Given the description of an element on the screen output the (x, y) to click on. 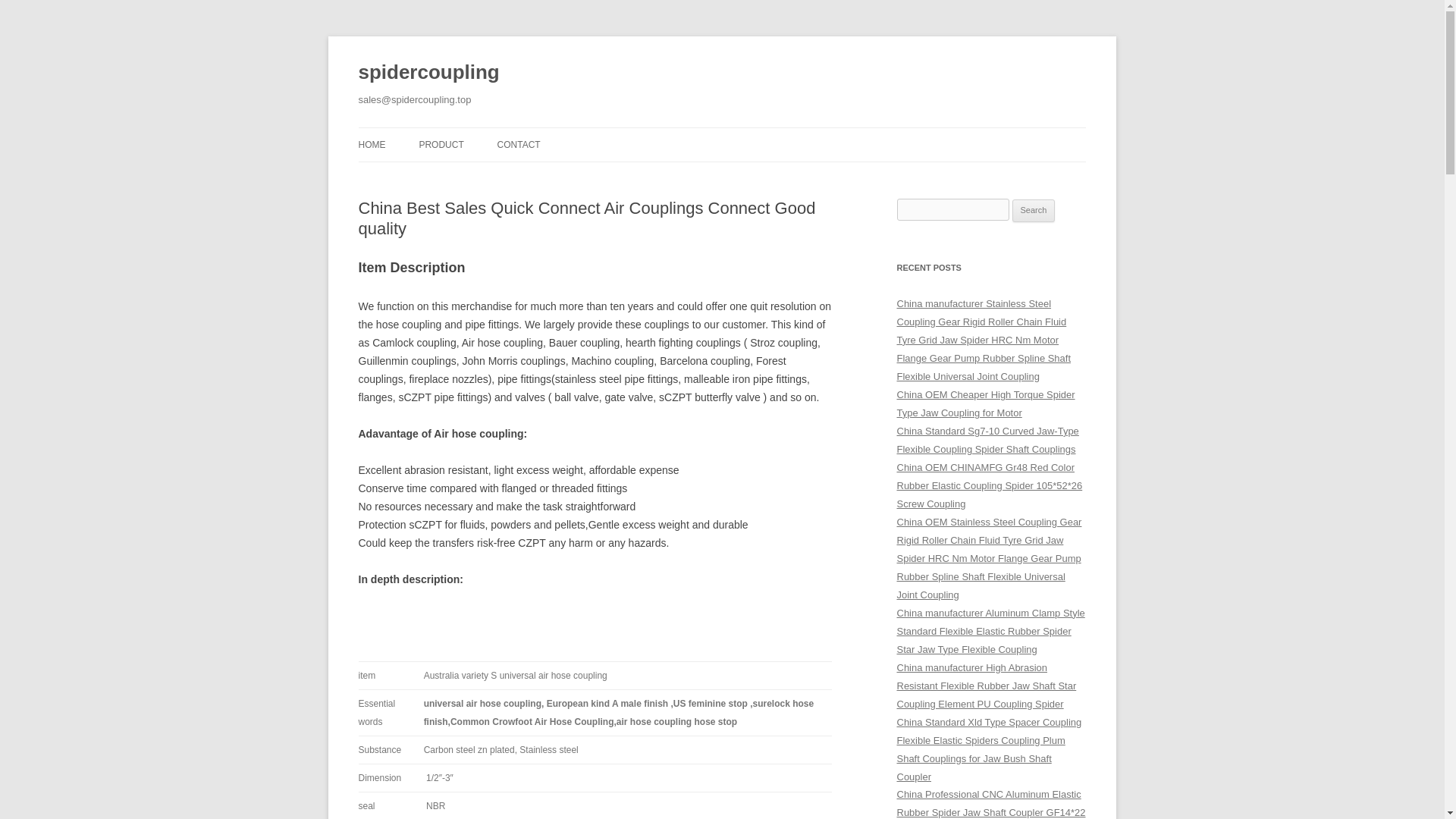
HOME (371, 144)
PRODUCT (441, 144)
spidercoupling (428, 72)
spidercoupling (428, 72)
CONTACT (518, 144)
Search (1033, 210)
Search (1033, 210)
